Given the description of an element on the screen output the (x, y) to click on. 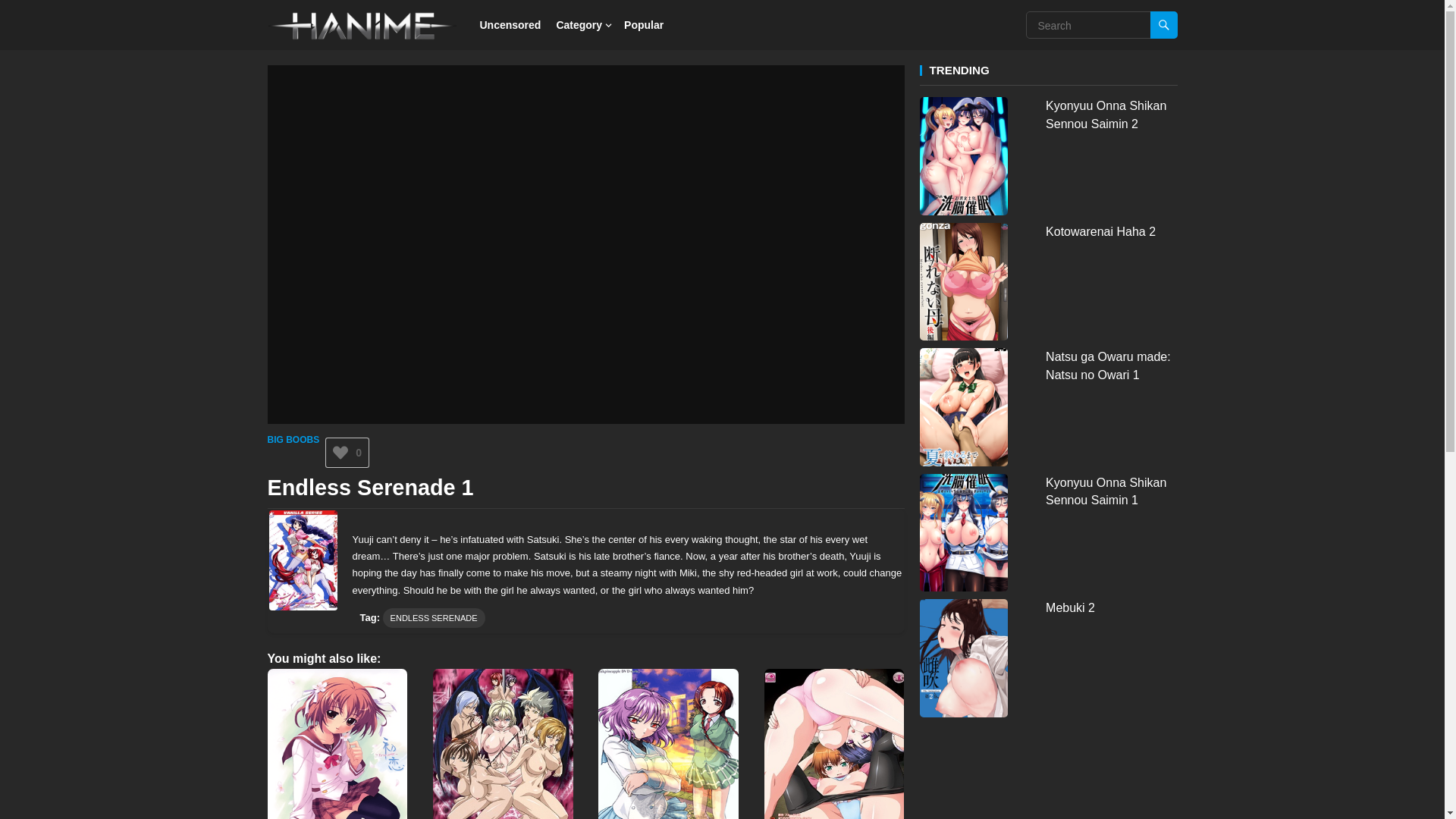
Uncensored (509, 24)
Category (580, 24)
